Given the description of an element on the screen output the (x, y) to click on. 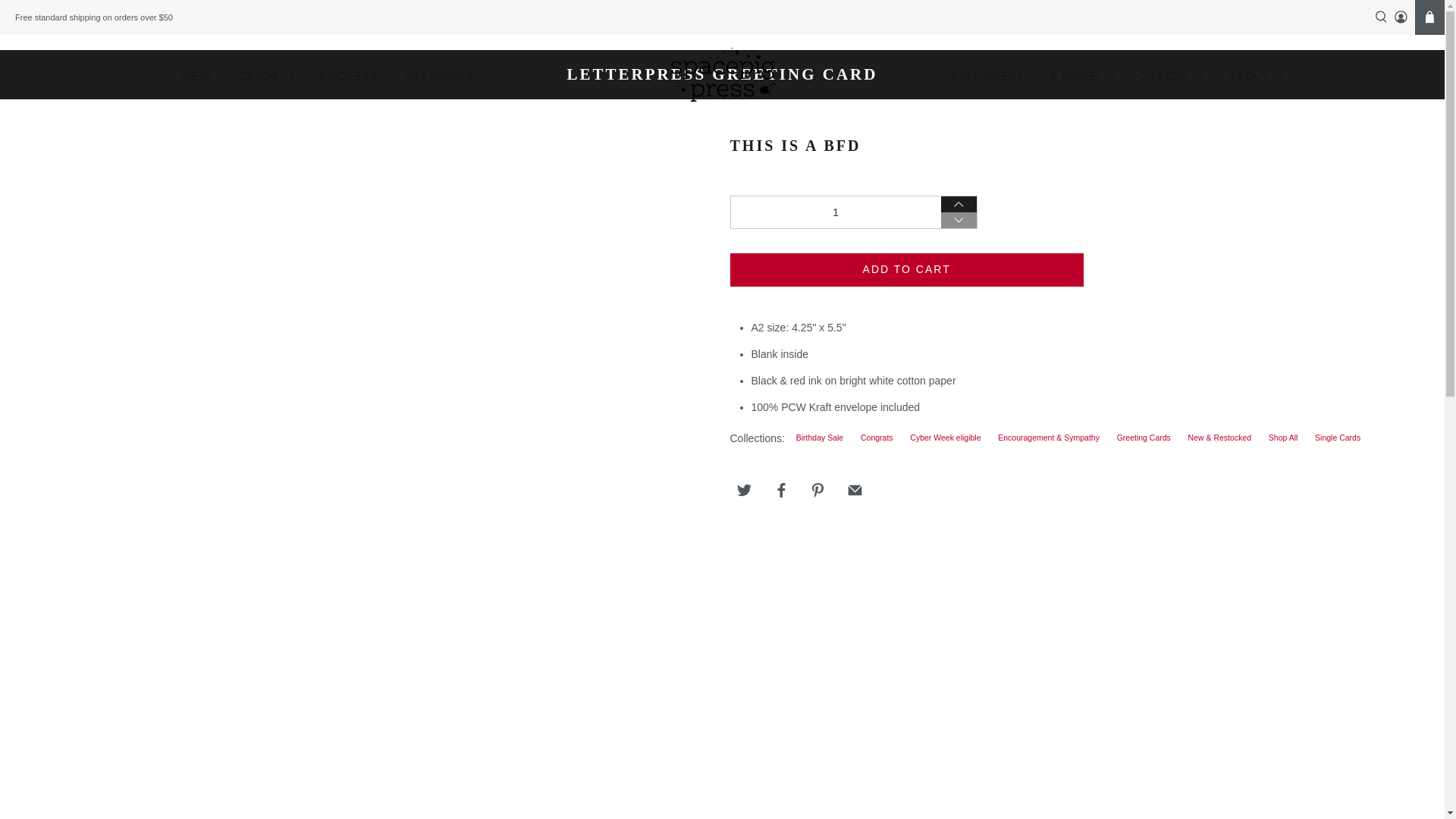
Share this on Facebook (780, 490)
ABOUT (1255, 75)
CUSTOM (1170, 75)
Shop All (1283, 438)
Share this on Twitter (743, 490)
Birthday Sale (819, 438)
Cyber Week eligible (944, 438)
1 (834, 212)
Share this on Pinterest (817, 490)
STATIONERY (986, 75)
ART PRINTS (438, 75)
Greeting Cards (1143, 438)
Spacepig Press (721, 74)
CARDS (265, 75)
Email this to a friend (854, 490)
